Given the description of an element on the screen output the (x, y) to click on. 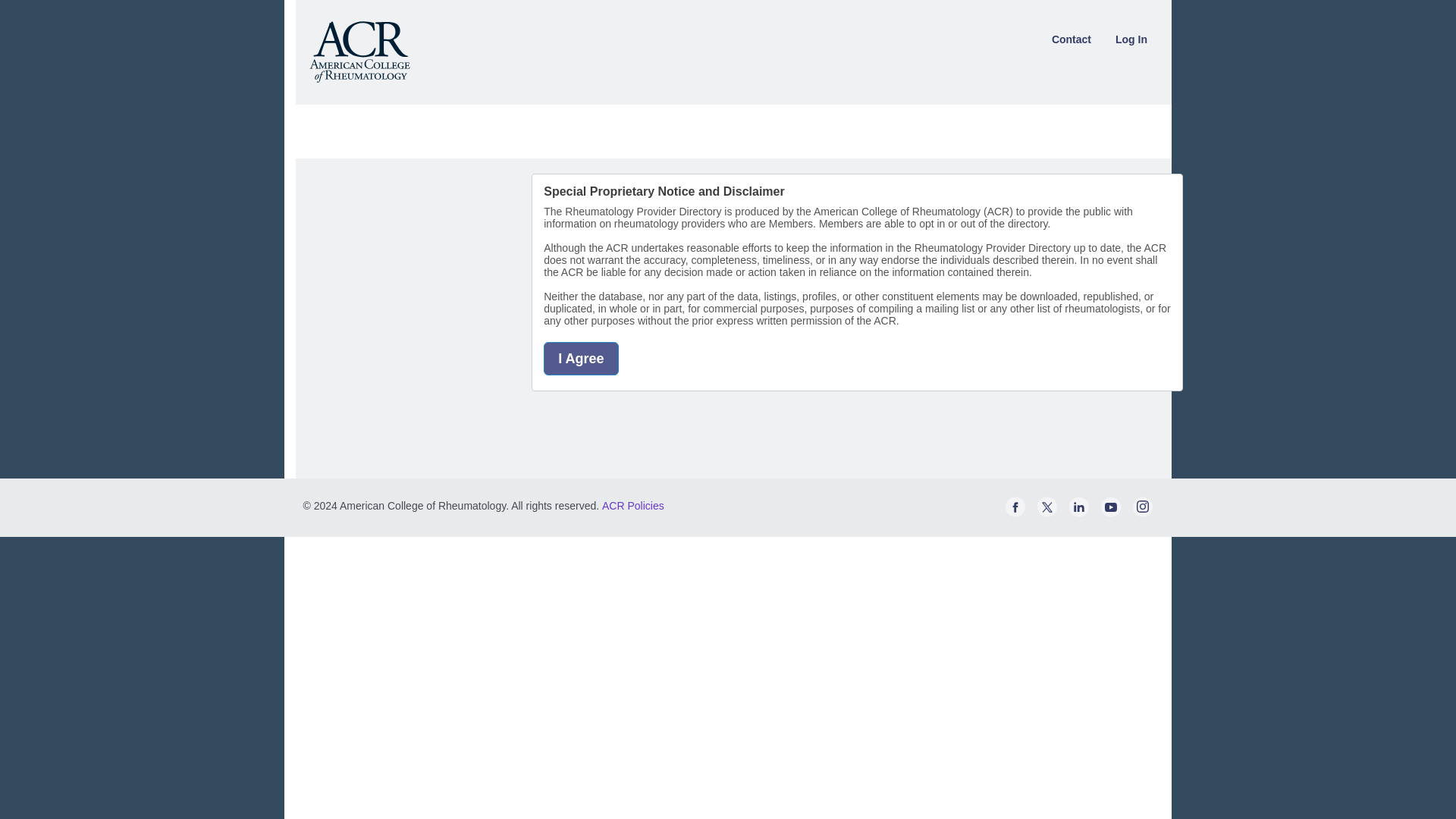
ACR Policies (632, 505)
Instagram (1142, 512)
Youtube (1110, 512)
I Agree (580, 358)
Twitter (1046, 512)
LinkedIn (1078, 512)
Log In (1131, 39)
Facebook (1015, 512)
Contact (1070, 39)
